Given the description of an element on the screen output the (x, y) to click on. 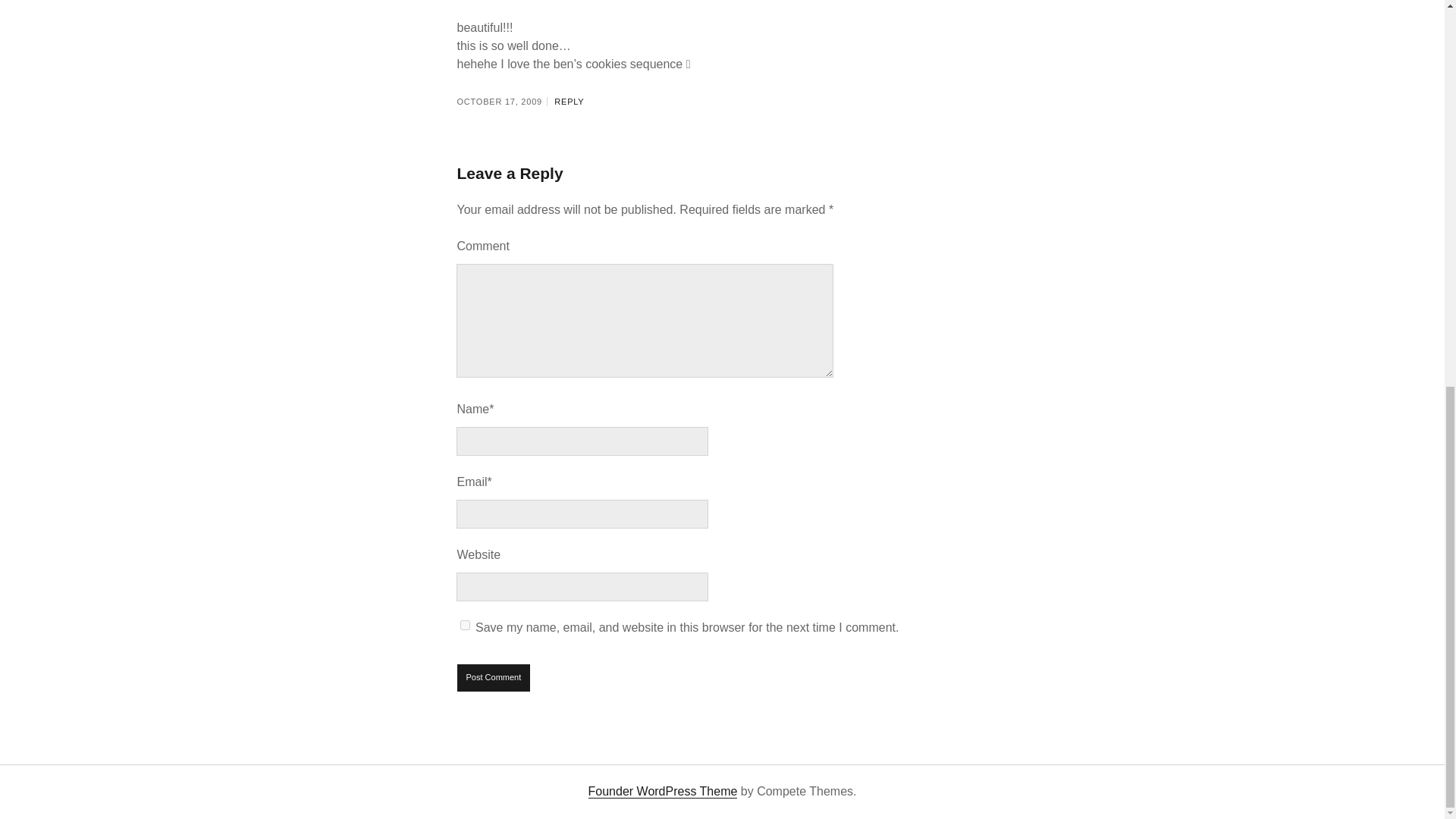
Post Comment (494, 677)
yes (465, 624)
